Given the description of an element on the screen output the (x, y) to click on. 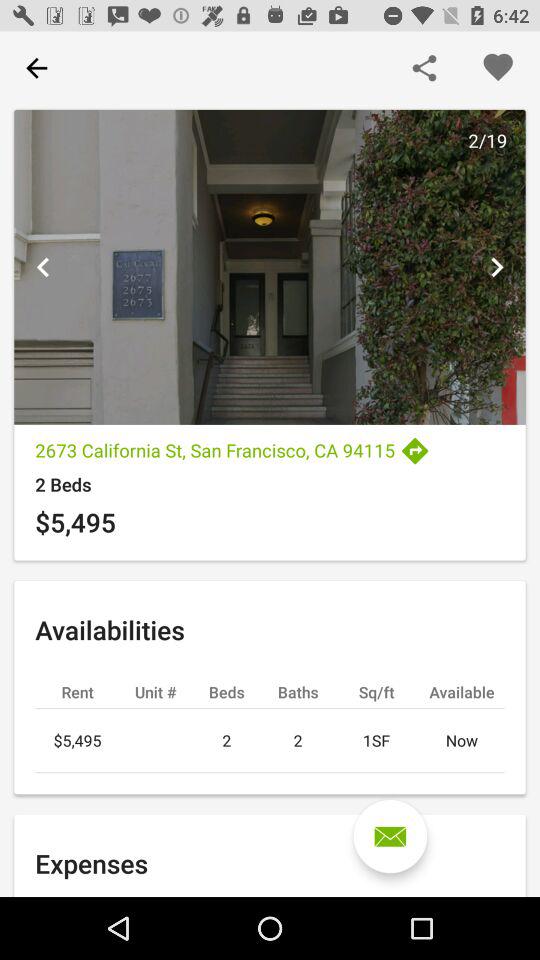
favorite button (497, 68)
